Given the description of an element on the screen output the (x, y) to click on. 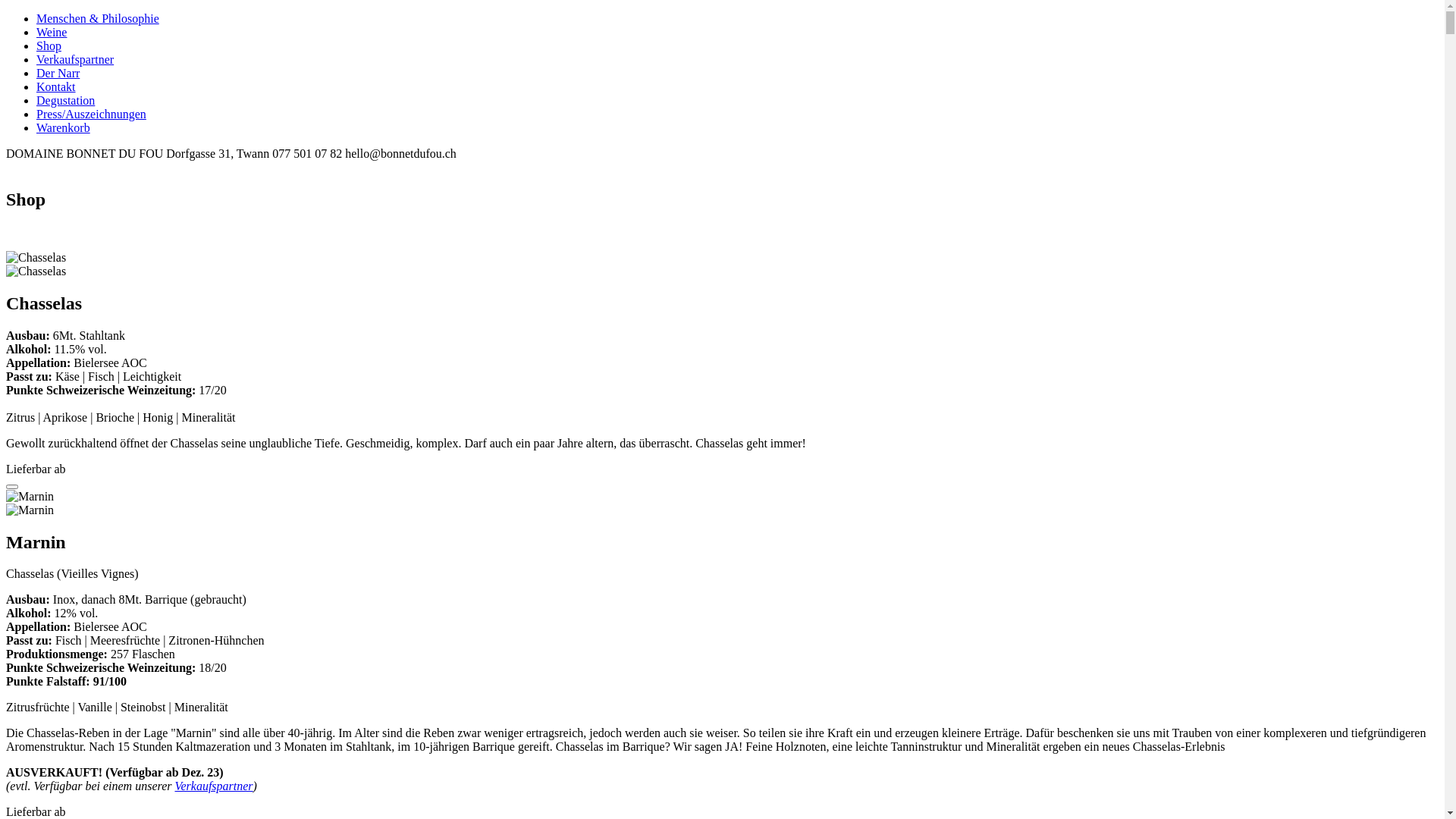
Weine Element type: text (51, 31)
Verkaufspartner Element type: text (74, 59)
Der Narr Element type: text (57, 72)
Warenkorb Element type: text (63, 127)
Verkaufspartner Element type: text (213, 785)
Menschen & Philosophie Element type: text (97, 18)
Shop Element type: text (48, 45)
Kontakt Element type: text (55, 86)
Press/Auszeichnungen Element type: text (91, 113)
Degustation Element type: text (65, 100)
